Given the description of an element on the screen output the (x, y) to click on. 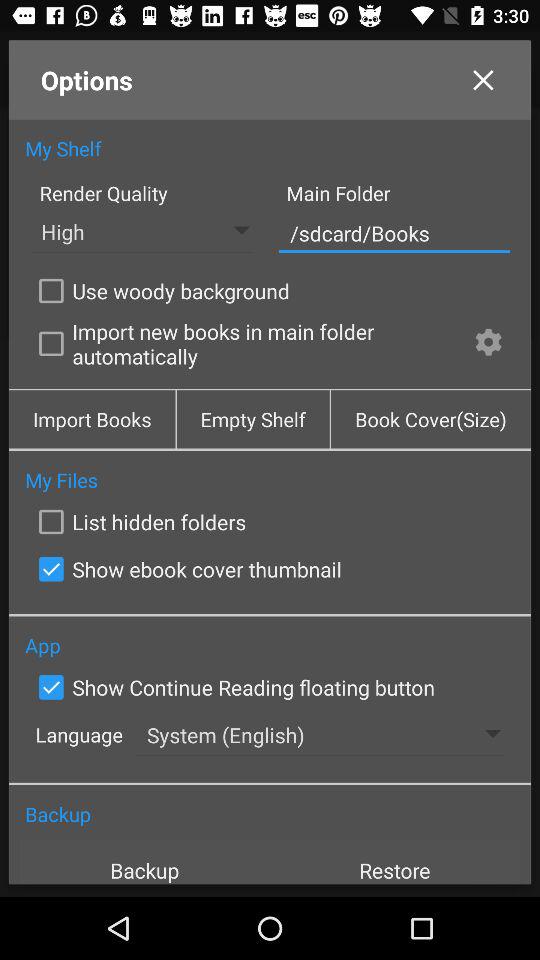
open restore item (395, 861)
